Given the description of an element on the screen output the (x, y) to click on. 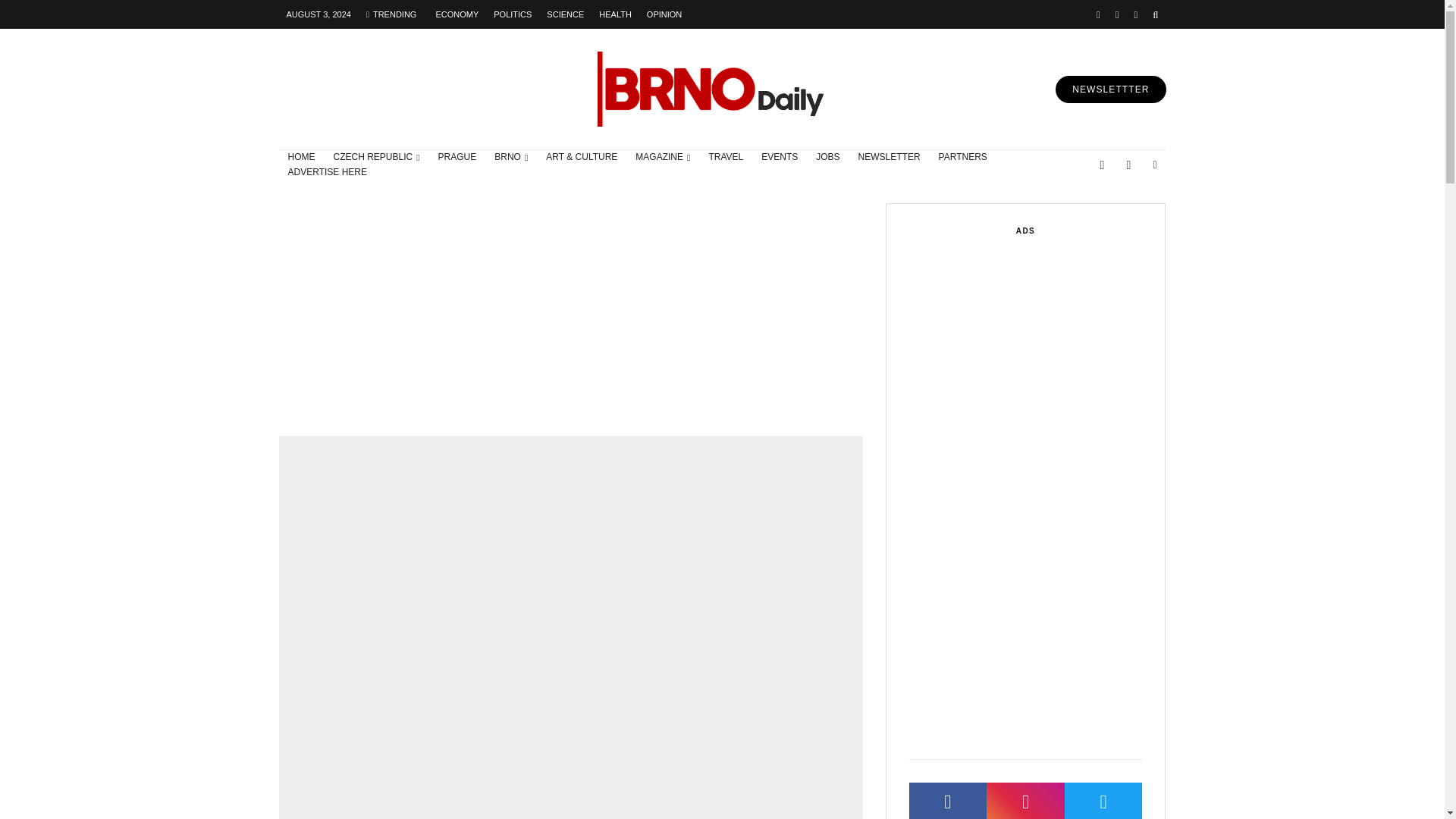
TRENDING (390, 14)
HOME (301, 157)
NEWSLETTTER (1110, 89)
POLITICS (512, 14)
SCIENCE (564, 14)
HEALTH (615, 14)
PRAGUE (457, 157)
OPINION (663, 14)
CZECH REPUBLIC (376, 157)
ECONOMY (457, 14)
